Given the description of an element on the screen output the (x, y) to click on. 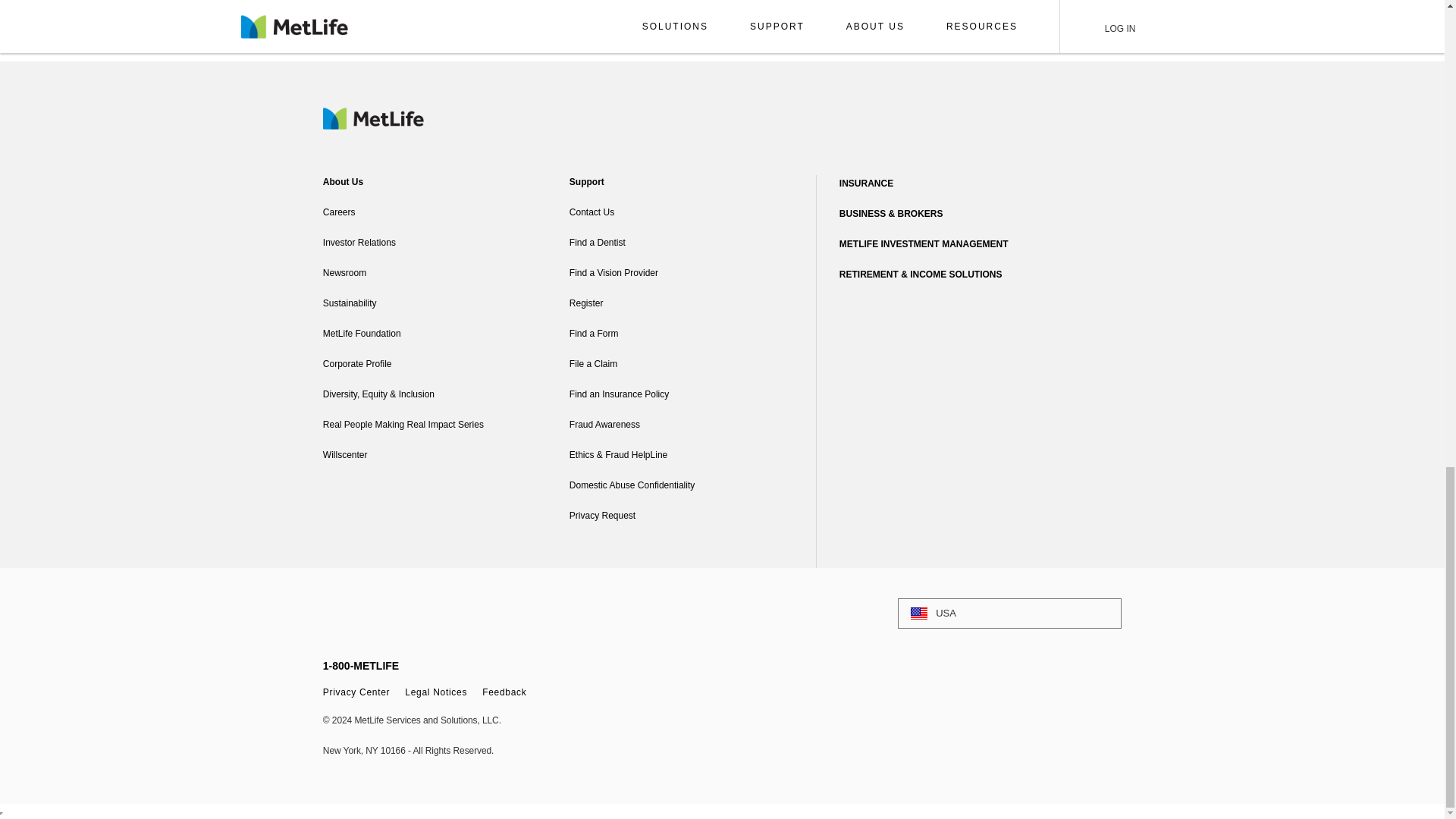
LinkedIn (416, 608)
YouTube (458, 608)
Facebook (331, 608)
Twitter (373, 608)
